Given the description of an element on the screen output the (x, y) to click on. 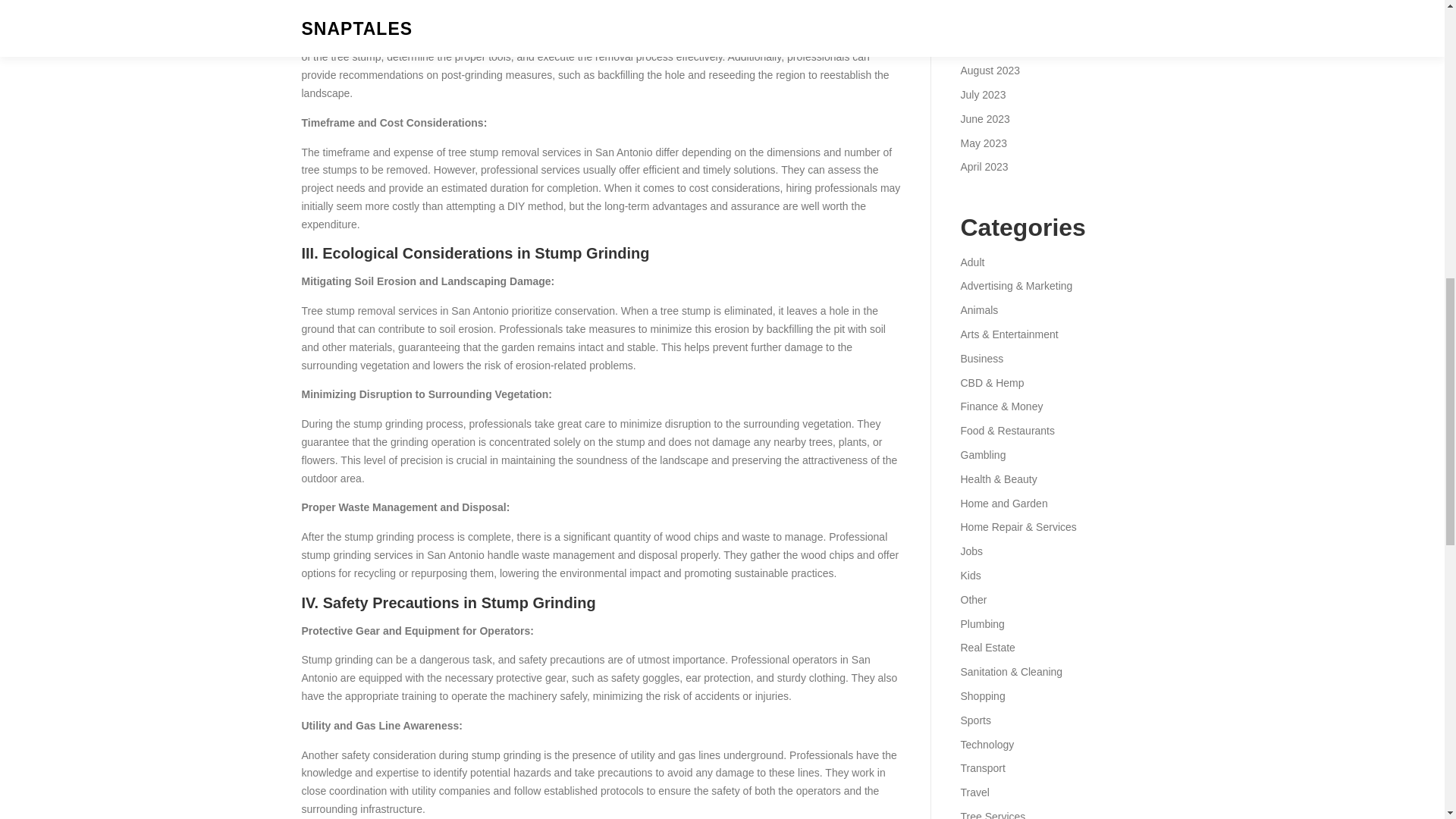
June 2023 (984, 119)
October 2023 (992, 22)
August 2023 (989, 70)
Gambling (982, 454)
May 2023 (982, 143)
November 2023 (997, 2)
July 2023 (982, 94)
September 2023 (999, 46)
Adult (971, 262)
Business (981, 358)
Animals (978, 309)
April 2023 (983, 166)
